Given the description of an element on the screen output the (x, y) to click on. 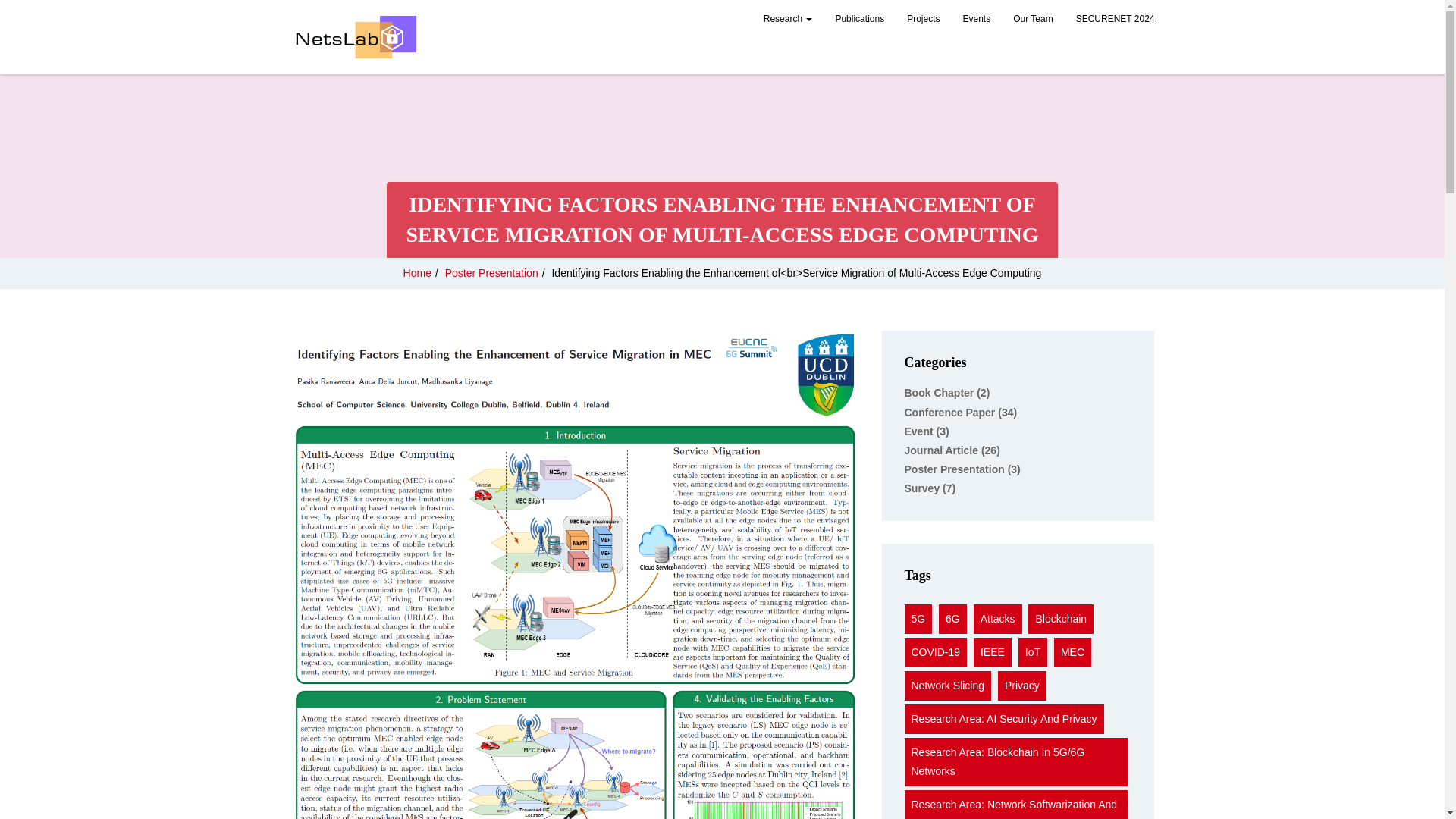
SECURENET 2024 (1115, 20)
Research (788, 20)
Our Team (1032, 20)
Poster Presentation (491, 272)
SECURENET 2024 (1115, 20)
Research (788, 20)
Home (416, 272)
Publications (859, 20)
Projects (922, 20)
Projects (922, 20)
Events (977, 20)
Events (977, 20)
NetsLab (355, 37)
Publications (859, 20)
Our Team (1032, 20)
